Given the description of an element on the screen output the (x, y) to click on. 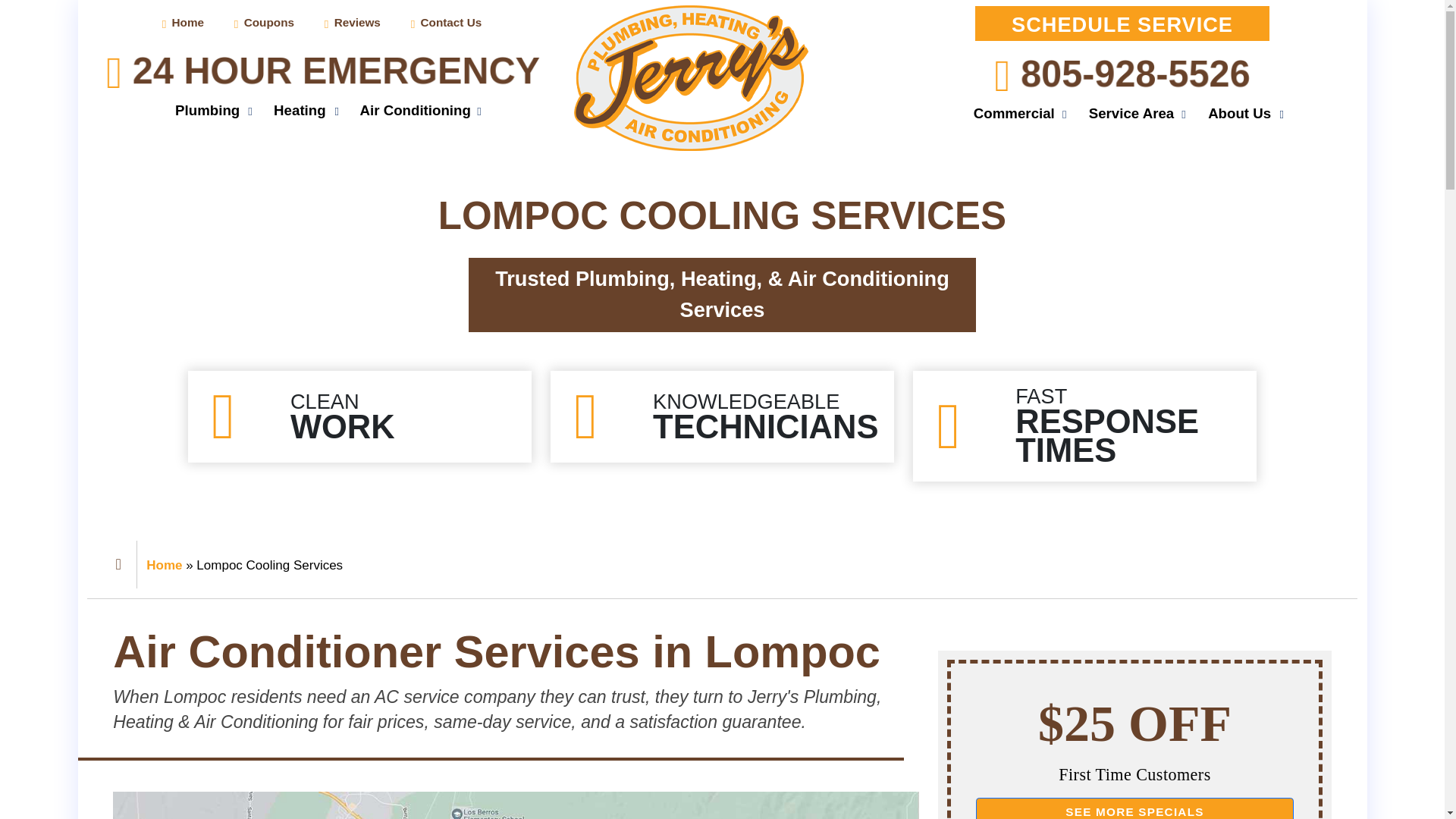
Commercial (1013, 113)
805-928-5526 (1121, 74)
Contact Us (446, 23)
Plumbing (206, 110)
Service Area (1131, 113)
Air Conditioning (414, 110)
Home (183, 23)
Heating (299, 110)
Coupons (264, 23)
Reviews (353, 23)
SCHEDULE SERVICE (1122, 22)
